Given the description of an element on the screen output the (x, y) to click on. 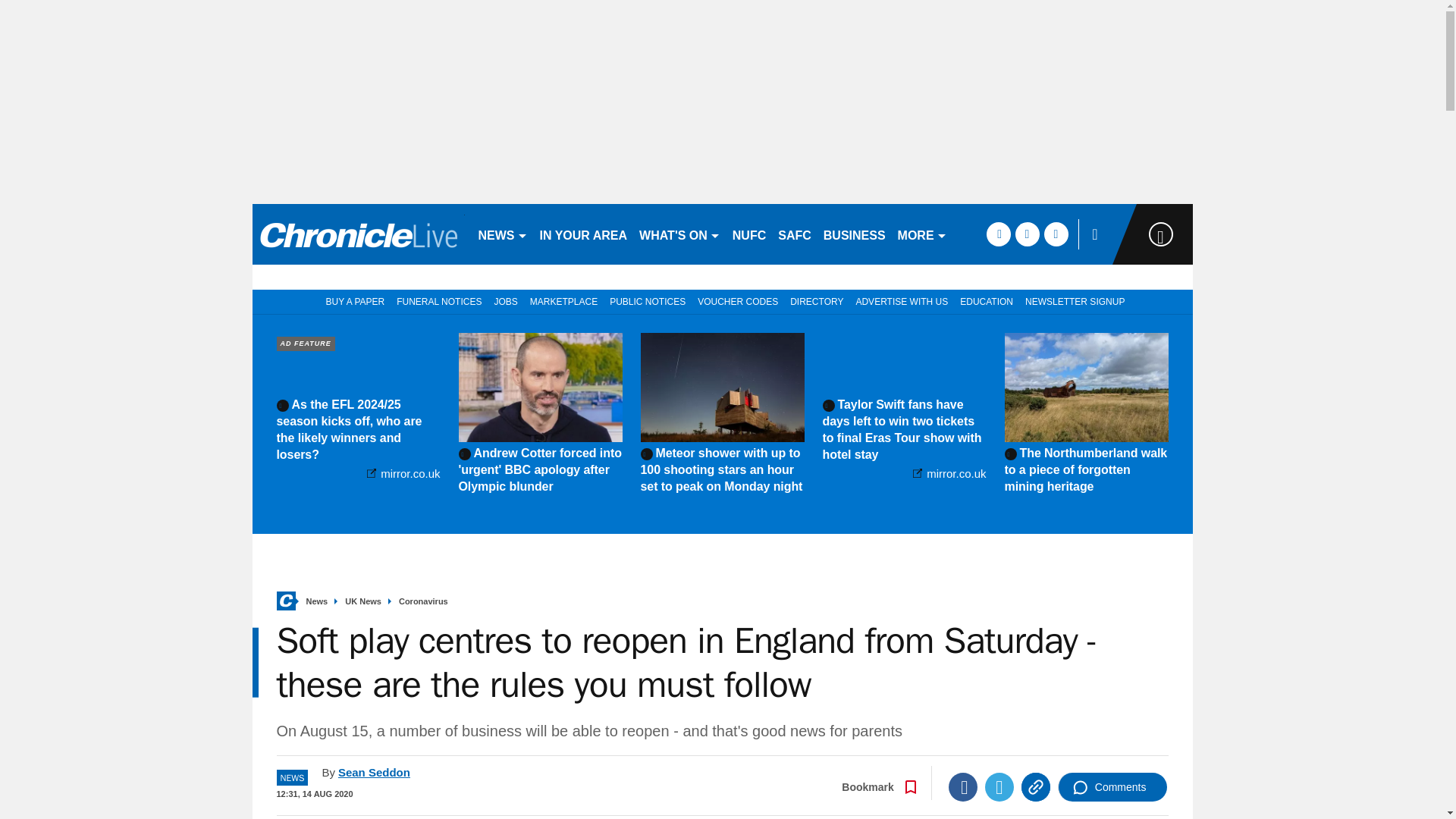
Facebook (962, 787)
instagram (1055, 233)
twitter (1026, 233)
BUSINESS (853, 233)
WHAT'S ON (679, 233)
IN YOUR AREA (583, 233)
NEWS (501, 233)
Comments (1112, 787)
MORE (922, 233)
nechronicle (357, 233)
